Given the description of an element on the screen output the (x, y) to click on. 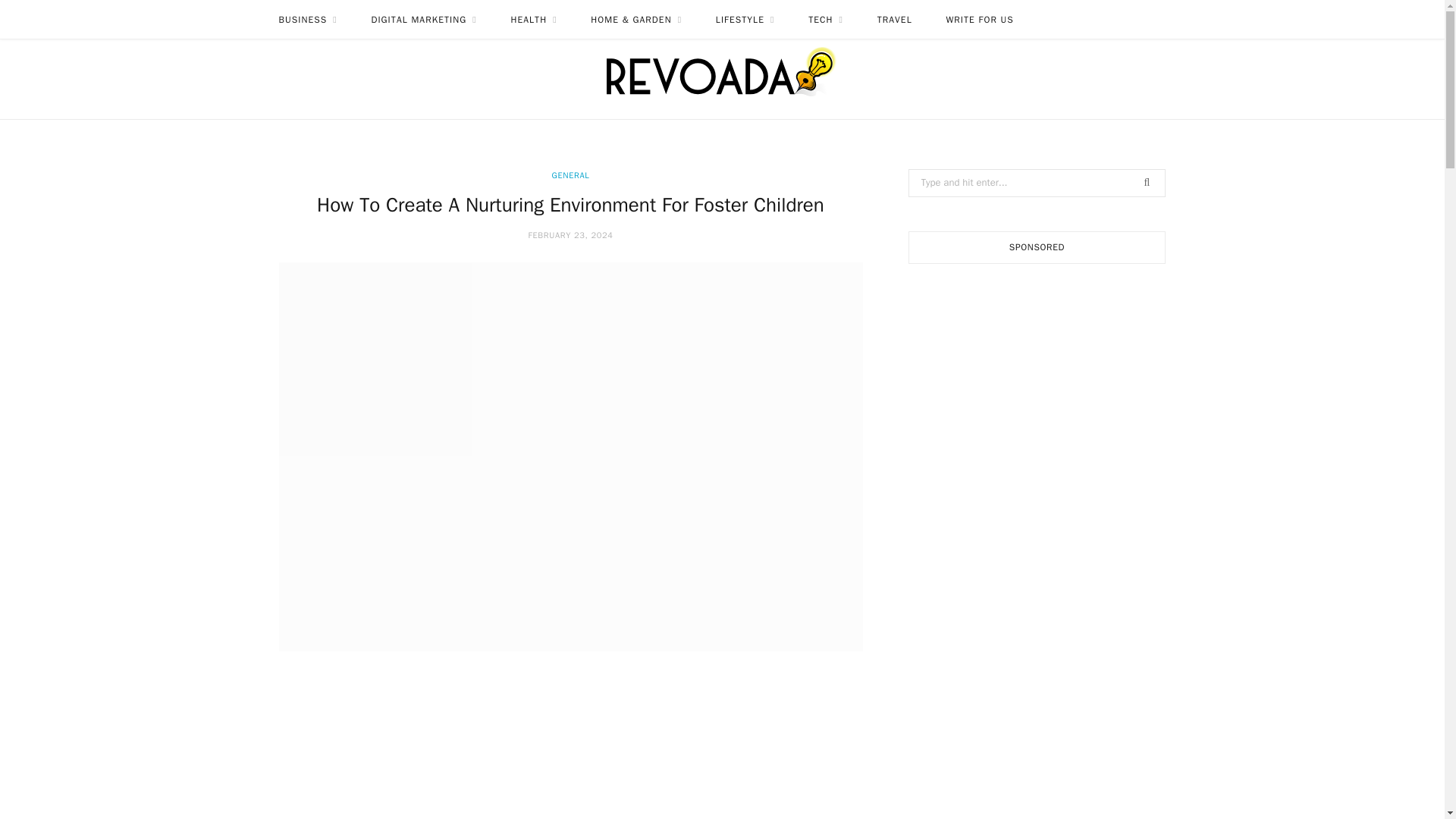
HEALTH (533, 19)
Advertisement (570, 748)
DIGITAL MARKETING (423, 19)
BUSINESS (307, 19)
TECH (826, 19)
Revoada (722, 67)
LIFESTYLE (745, 19)
Search for: (1037, 182)
